Given the description of an element on the screen output the (x, y) to click on. 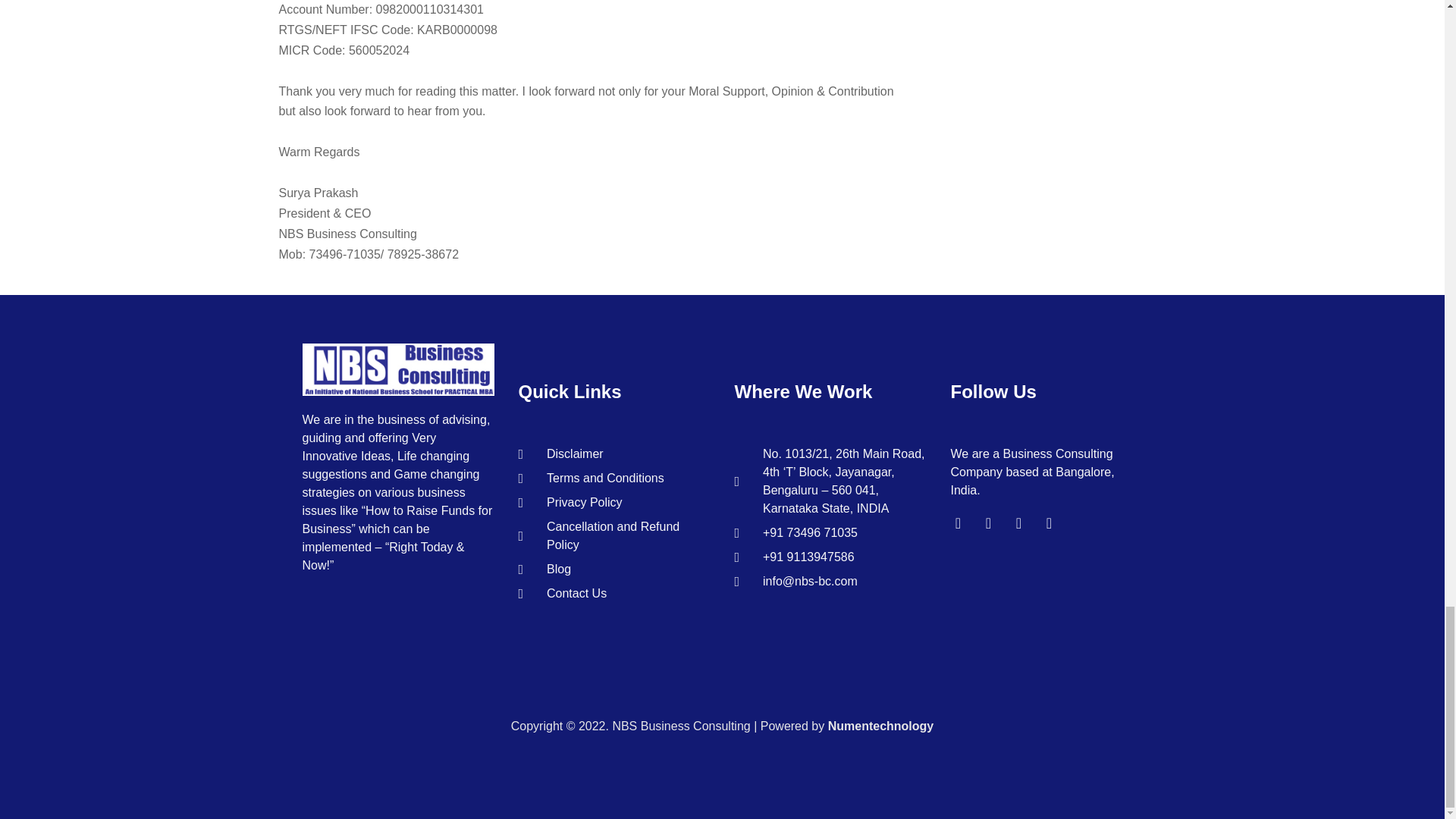
Blog (614, 569)
Disclaimer (614, 454)
Terms and Conditions (614, 478)
Privacy Policy (614, 502)
Cancellation and Refund Policy (614, 535)
Contact Us (614, 593)
